Given the description of an element on the screen output the (x, y) to click on. 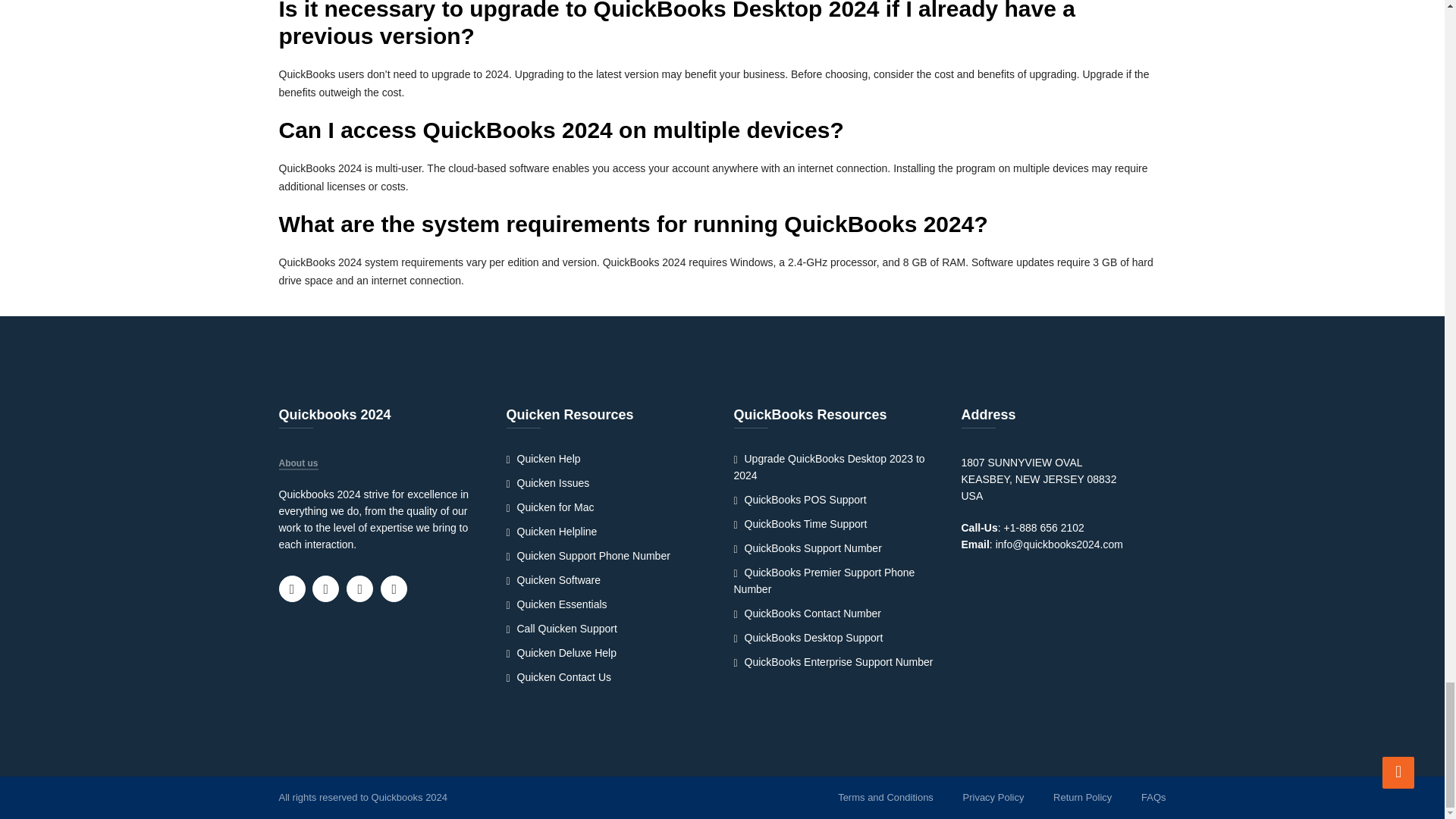
Quicken Issues (547, 482)
About us (298, 464)
Quicken for Mac (550, 507)
Quicken Help (543, 458)
